Given the description of an element on the screen output the (x, y) to click on. 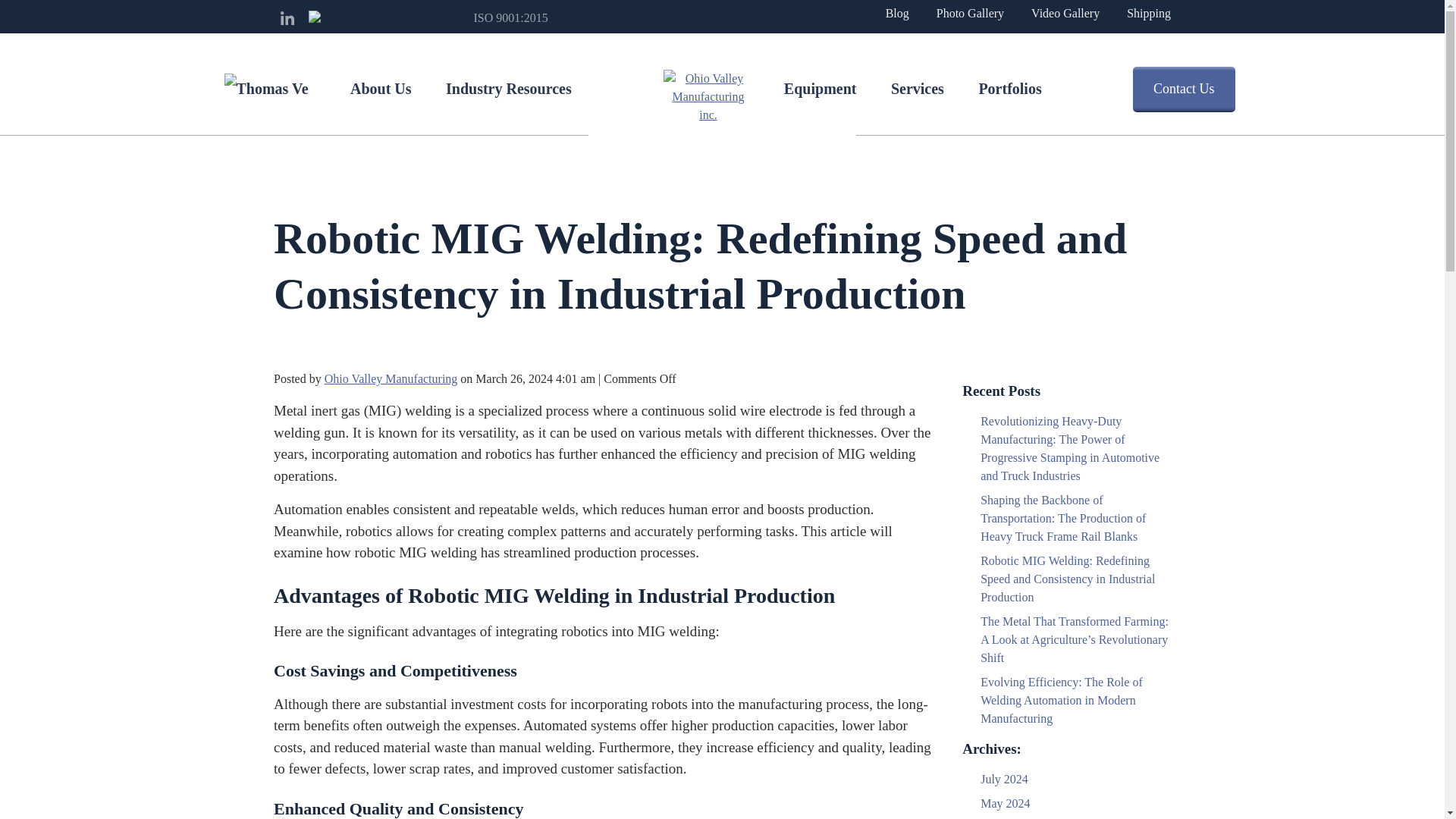
Industry Resources (508, 88)
Services (917, 88)
LinkedIn (287, 18)
Equipment (820, 88)
Shipping (1148, 13)
Photo Gallery (970, 13)
Ohio Valley Manufacturing inc. (707, 96)
Thomas Verified Supplier Badge (265, 88)
About Us (380, 88)
ISO 9001:2015 (493, 17)
